Given the description of an element on the screen output the (x, y) to click on. 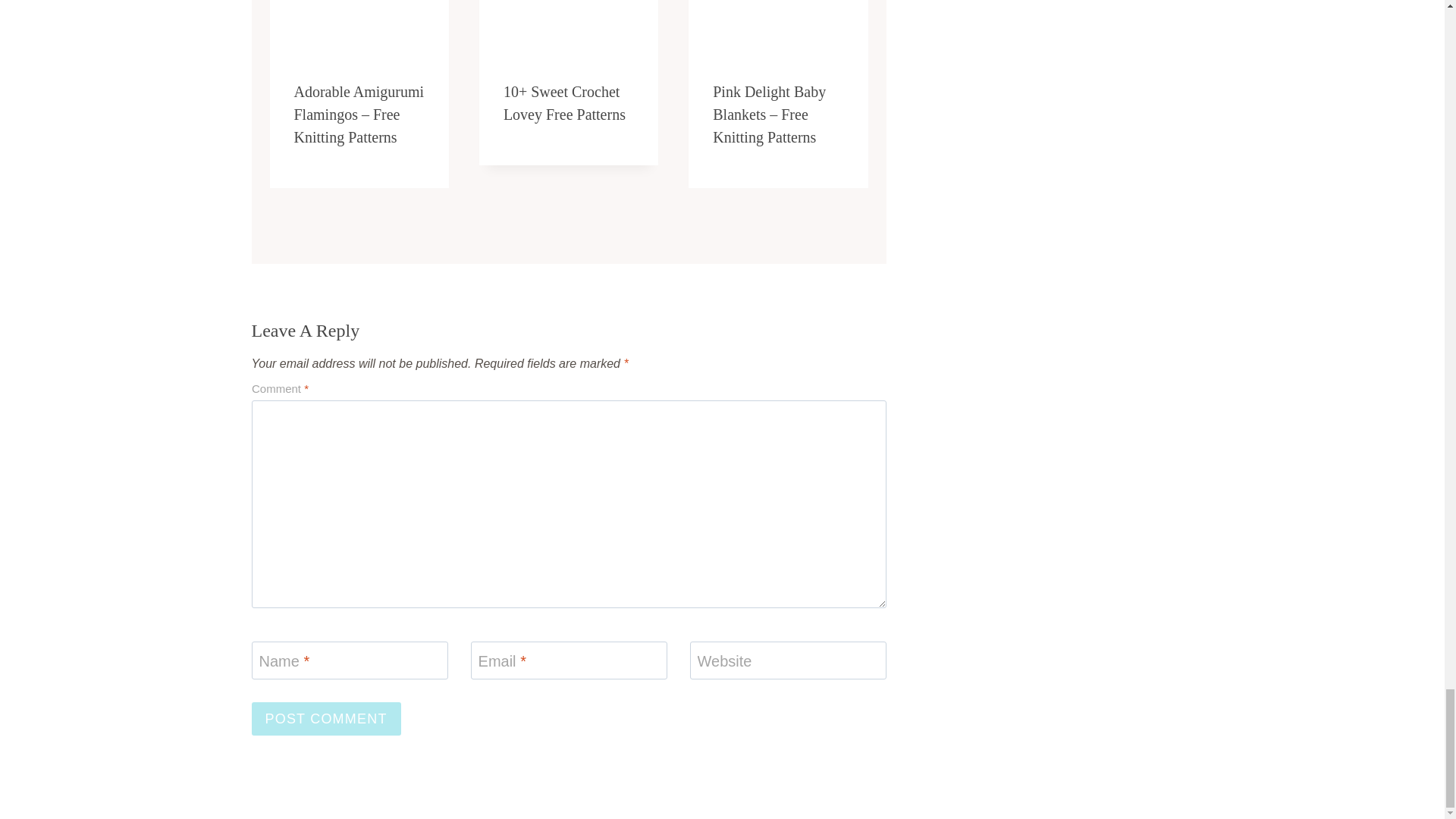
Post Comment (326, 717)
